Given the description of an element on the screen output the (x, y) to click on. 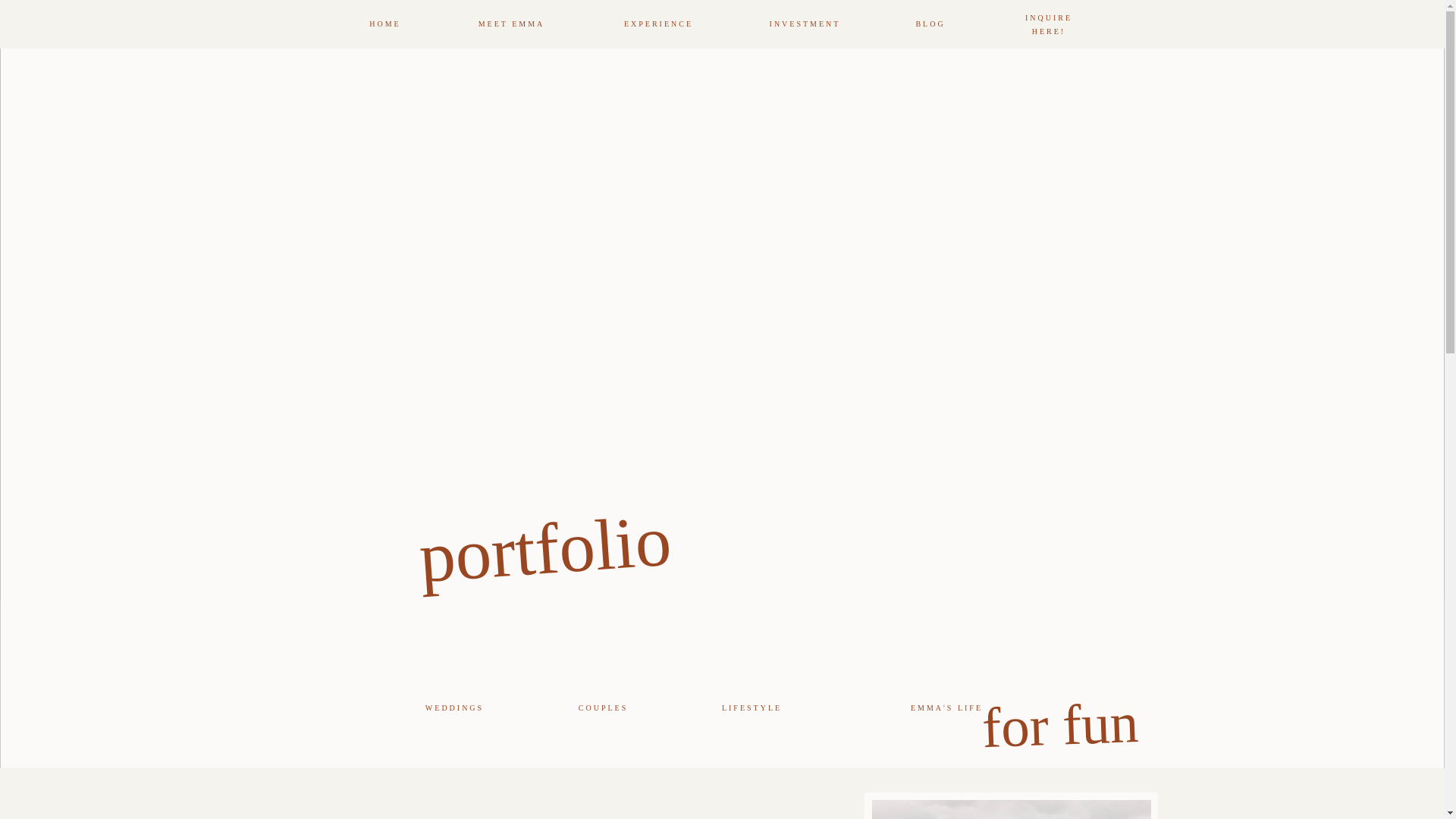
BLOG (930, 24)
INVESTMENT (803, 24)
EMMA'S LIFE (946, 706)
HOME (385, 24)
LIFESTYLE (751, 706)
COUPLES (603, 706)
EXPERIENCE (658, 24)
MEET EMMA (511, 24)
INQUIRE HERE! (1048, 24)
WEDDINGS (454, 706)
